Given the description of an element on the screen output the (x, y) to click on. 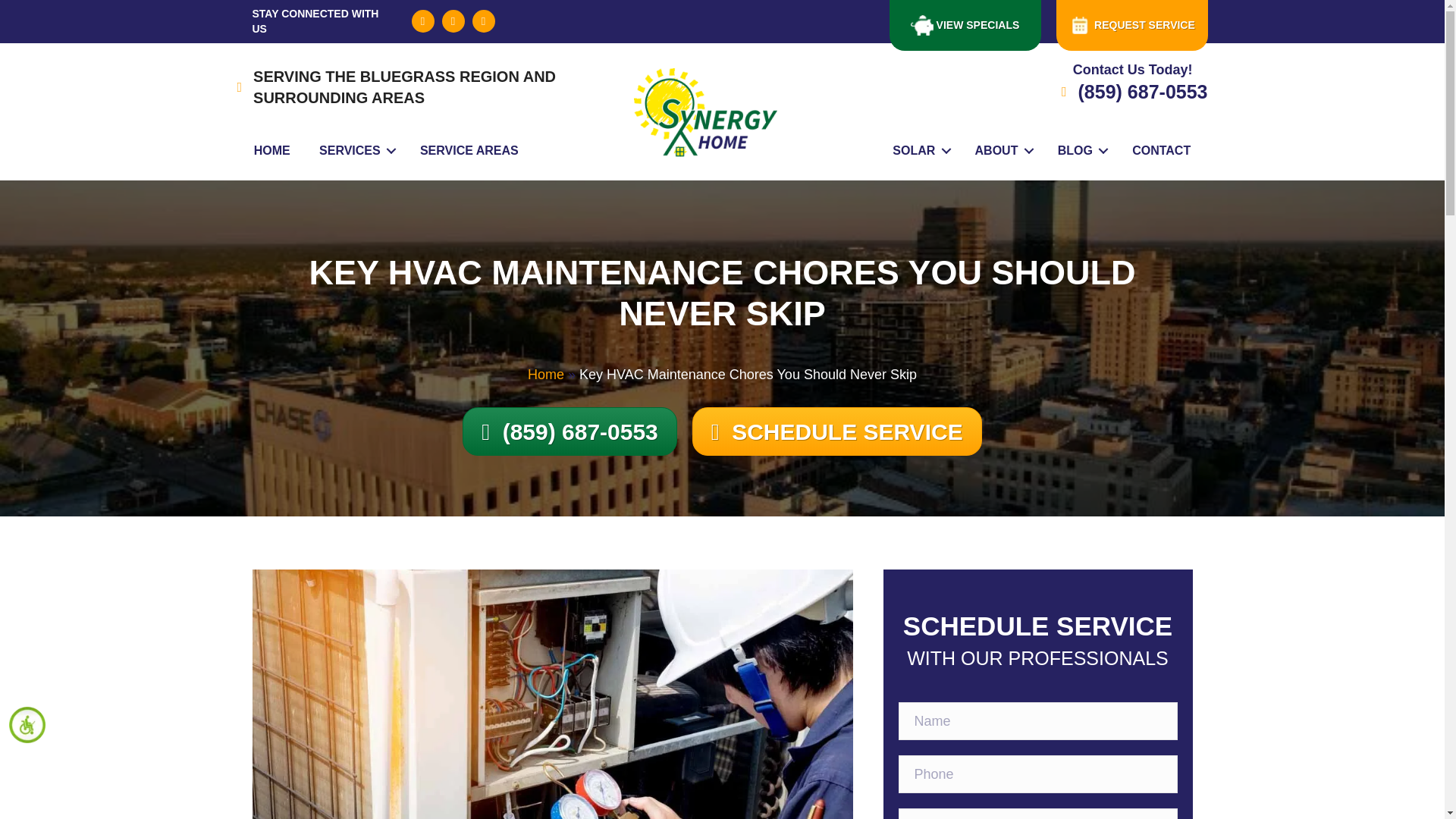
REQUEST SERVICE (1131, 25)
SERVICES (355, 150)
Instagram (483, 20)
VIEW SPECIALS (964, 25)
HOME (272, 150)
